Given the description of an element on the screen output the (x, y) to click on. 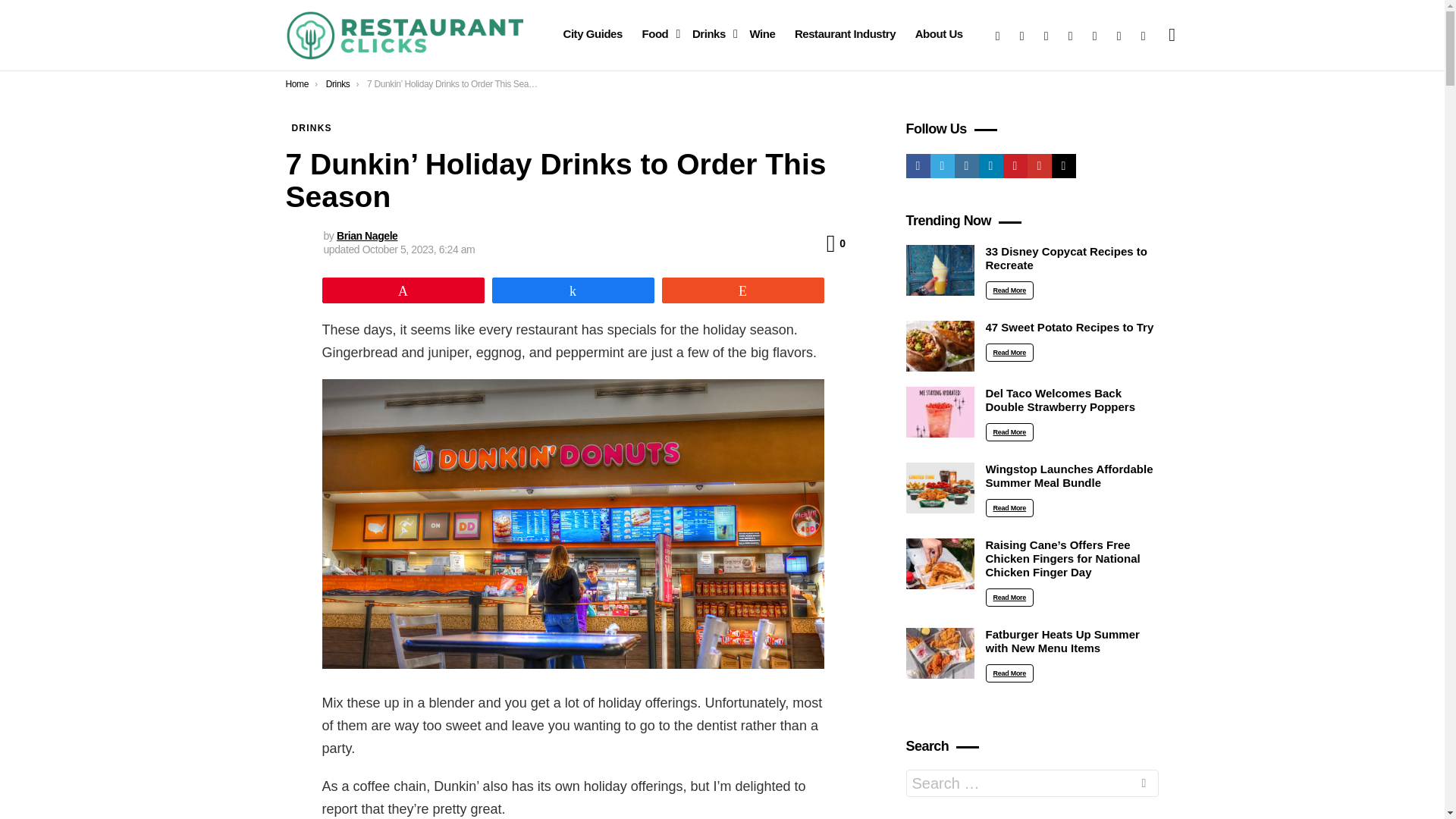
Drinks (711, 33)
Posts by Brian Nagele (366, 235)
youtube (1118, 34)
linkedin (1070, 34)
tiktok (1143, 34)
Food (656, 33)
pinterest (1094, 34)
instagram (1045, 34)
twitter (1021, 34)
City Guides (591, 33)
